Given the description of an element on the screen output the (x, y) to click on. 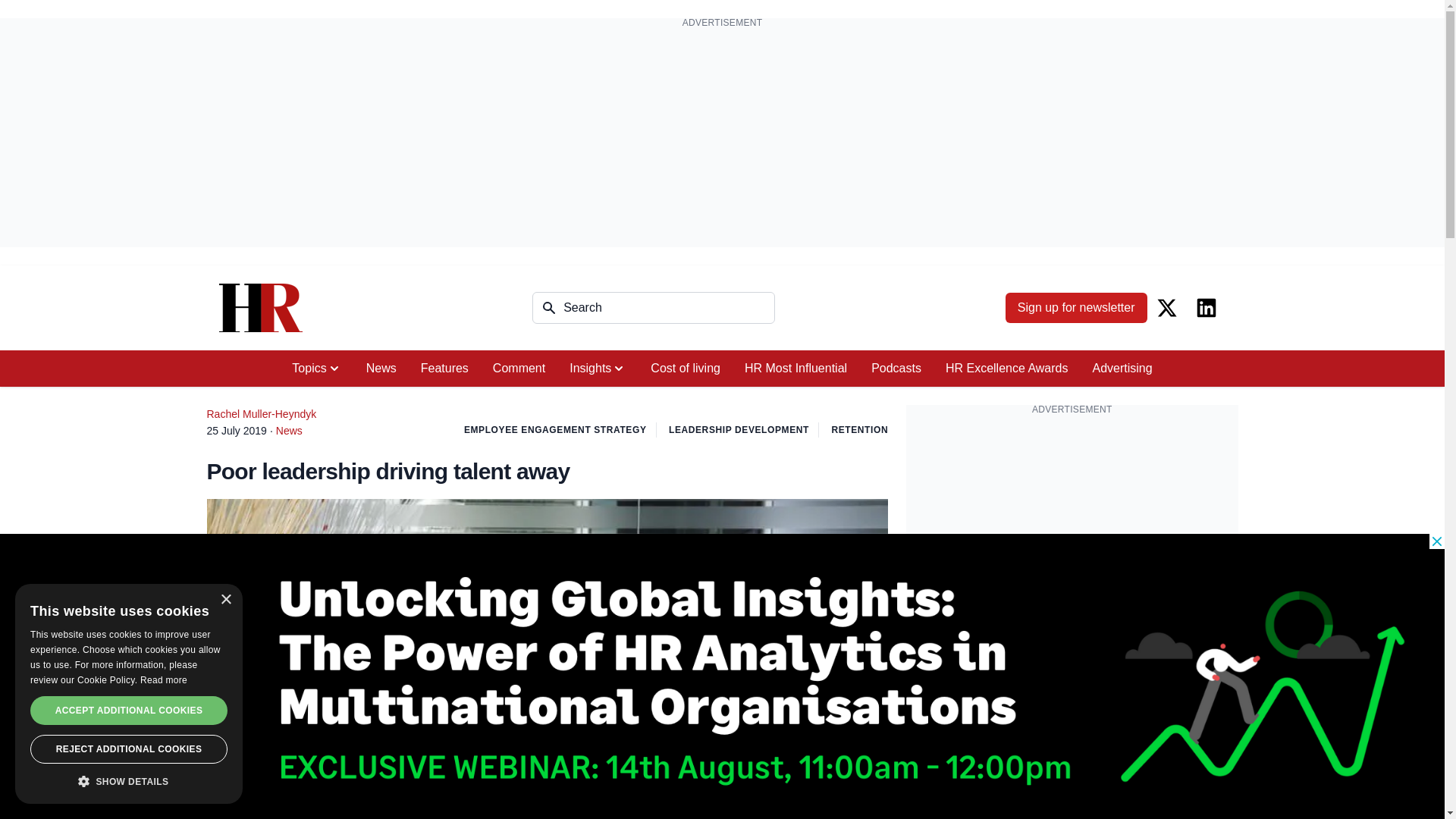
News (381, 368)
Cost of living (685, 368)
Sign up for newsletter (1076, 307)
Comment (518, 368)
Topics (316, 368)
Features (444, 368)
Insights (598, 368)
HR Most Influential (795, 368)
3rd party ad content (1072, 520)
